Given the description of an element on the screen output the (x, y) to click on. 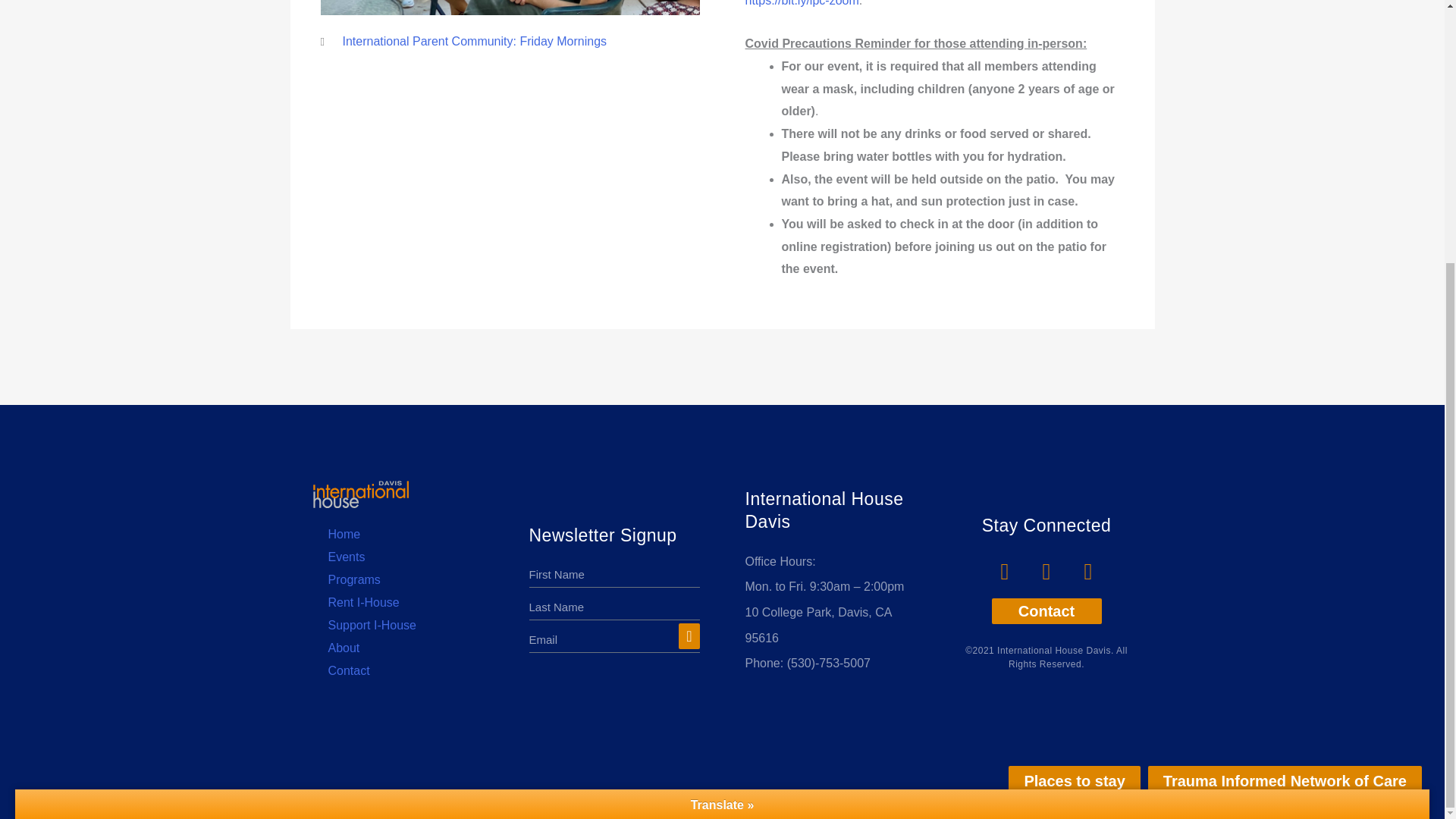
Home (398, 534)
Programs (398, 579)
International Parent Community: Friday Mornings (474, 41)
Rent I-House (398, 602)
Events (398, 557)
